Given the description of an element on the screen output the (x, y) to click on. 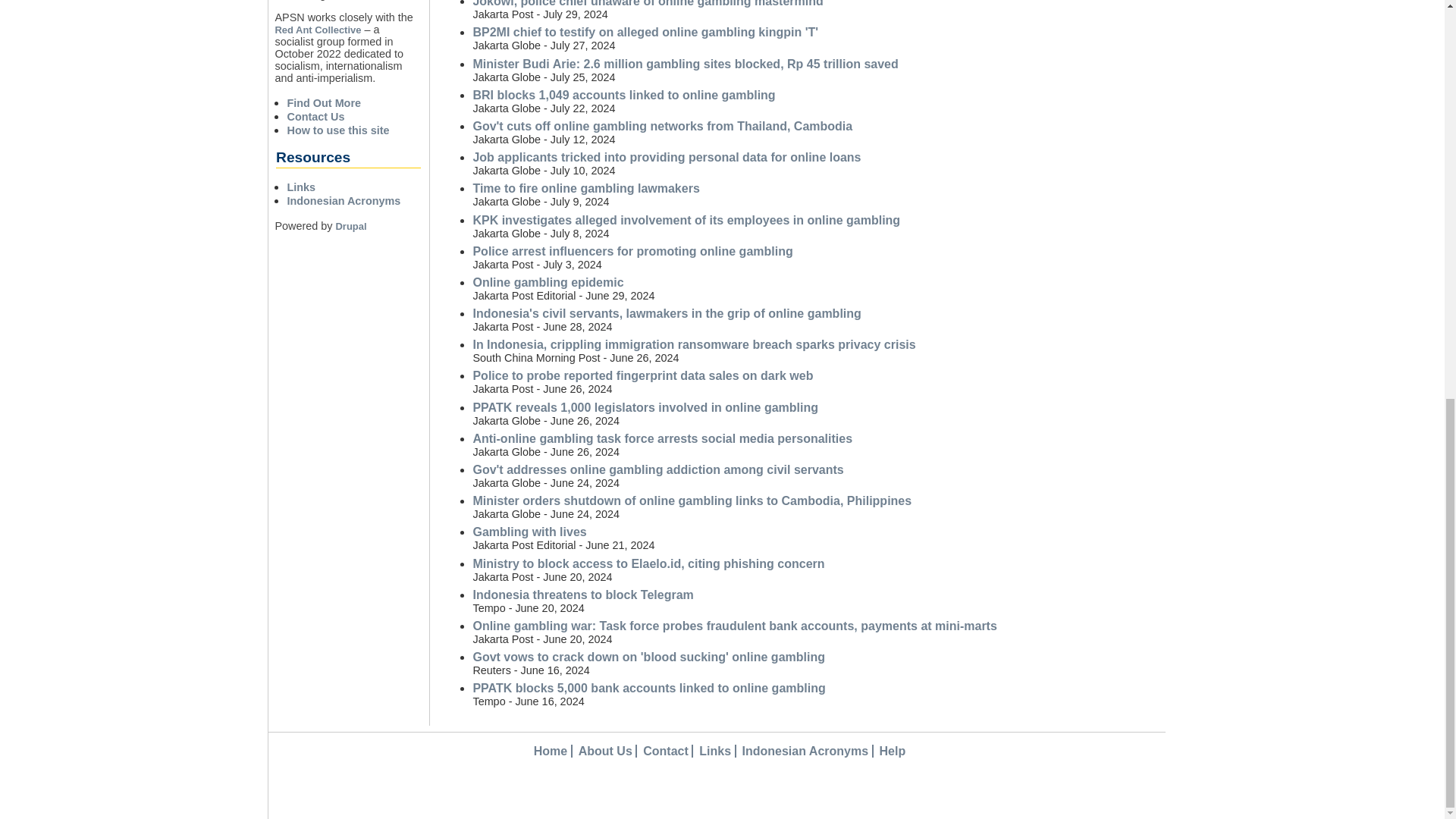
Police to probe reported fingerprint data sales on dark web (641, 375)
Online gambling epidemic (547, 282)
PPATK blocks 5,000 bank accounts linked to online gambling (648, 687)
Gambling with lives (528, 531)
Indonesia threatens to block Telegram (582, 594)
